Given the description of an element on the screen output the (x, y) to click on. 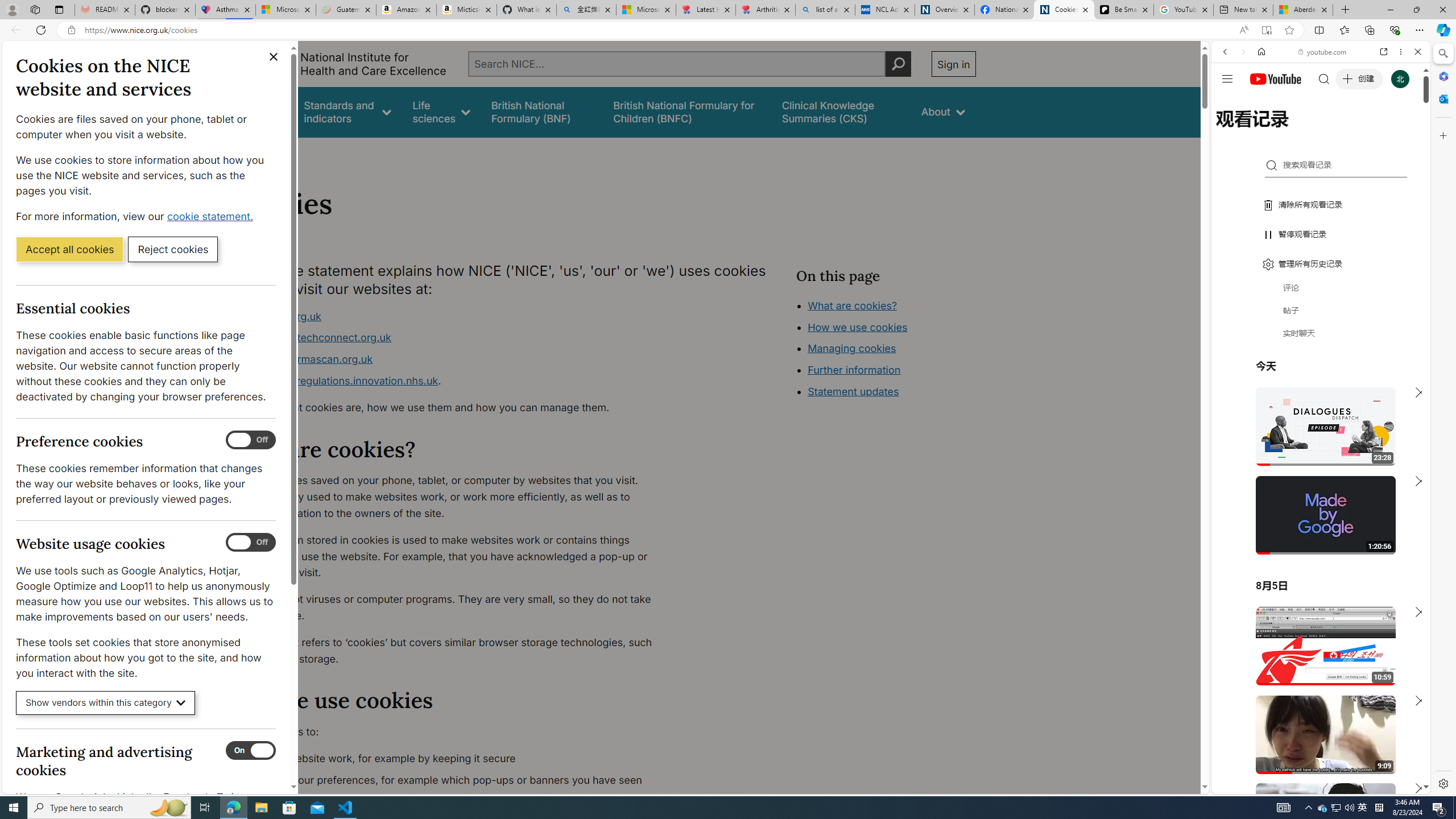
YouTube (1315, 655)
How we use cookies (896, 389)
Open link in new tab (1383, 51)
What are cookies? (852, 305)
Show More Music (1390, 310)
Be Smart | creating Science videos | Patreon (1123, 9)
